Given the description of an element on the screen output the (x, y) to click on. 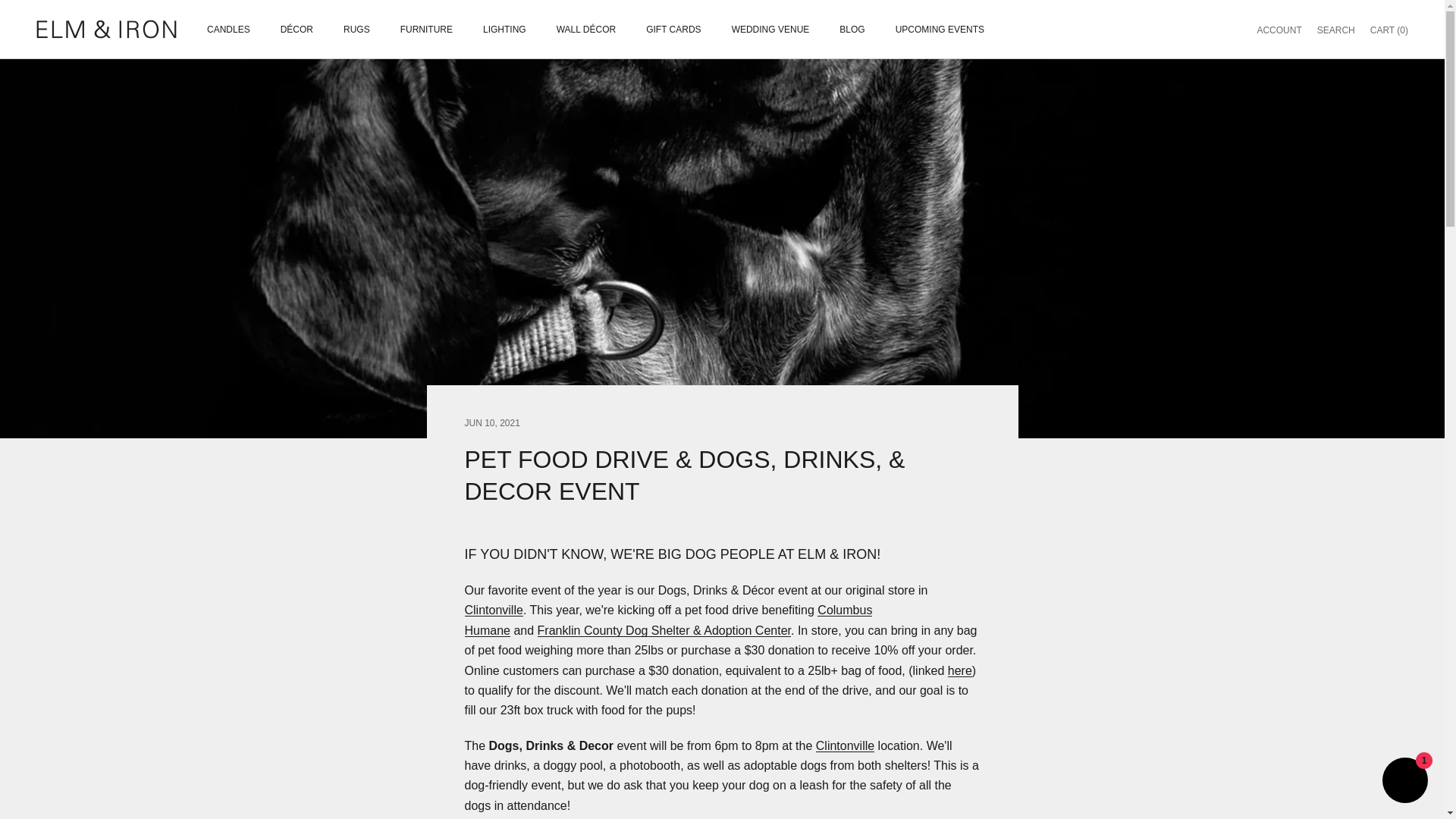
Shopify online store chat (1404, 781)
RUGS (356, 29)
